Given the description of an element on the screen output the (x, y) to click on. 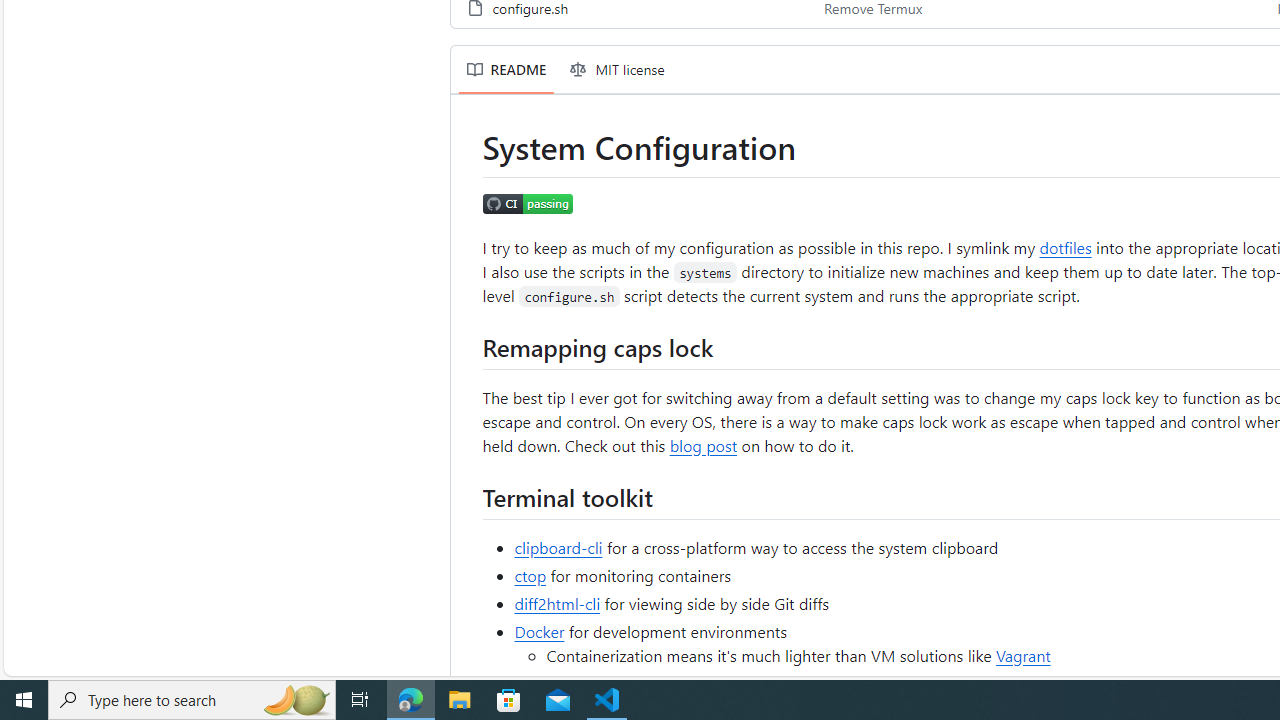
README (506, 69)
clipboard-cli (558, 546)
Permalink: Remapping caps lock (468, 345)
Vagrant (1022, 654)
CI status (527, 205)
README (506, 69)
dotfiles (1065, 246)
Permalink: System Configuration (468, 147)
diff2html-cli (557, 602)
Permalink: Terminal toolkit (468, 496)
CI services (726, 682)
MIT license (617, 69)
Docker (539, 630)
blog post (703, 444)
CI status (527, 202)
